Given the description of an element on the screen output the (x, y) to click on. 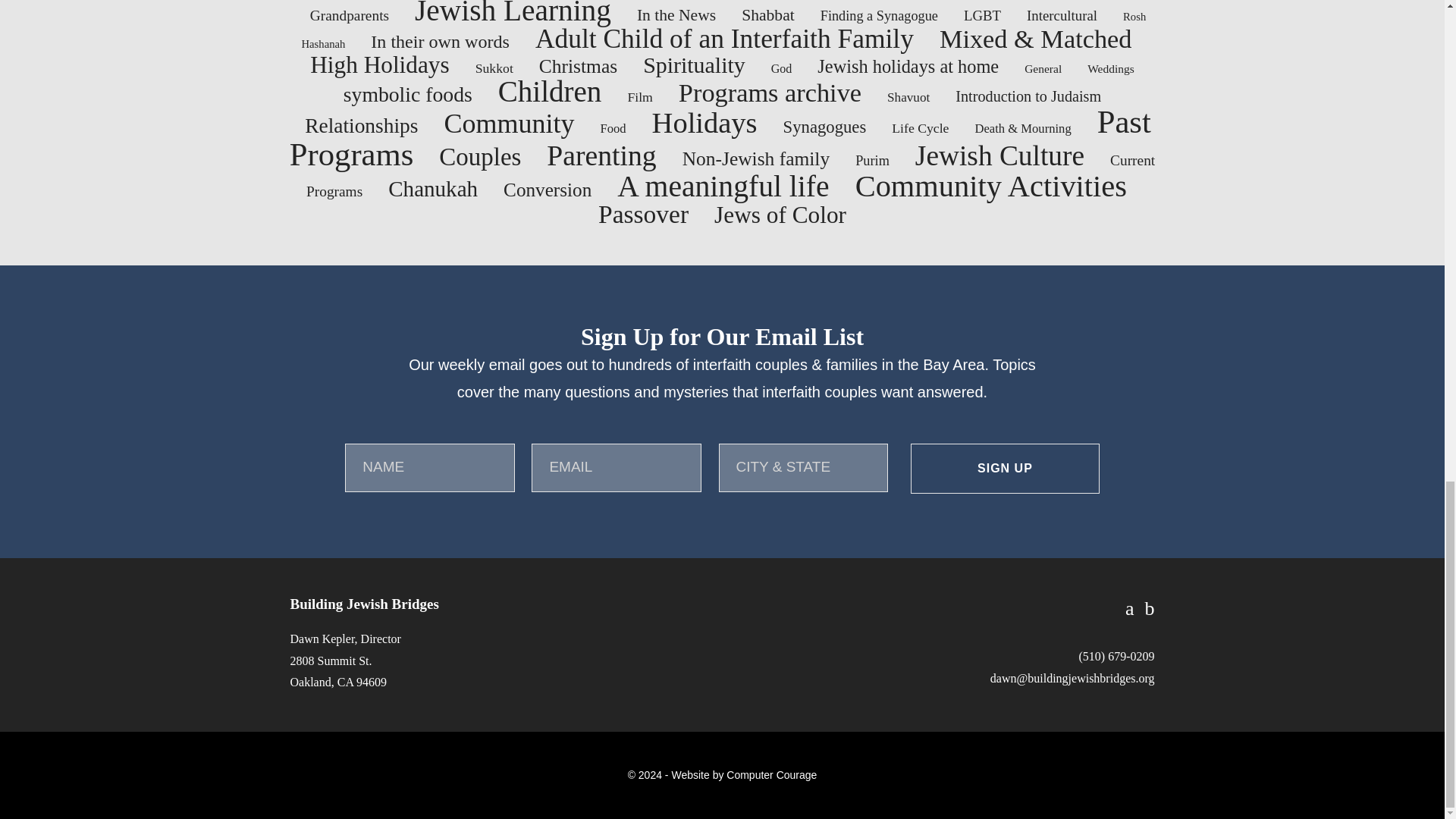
Sign Up (1005, 468)
In the News (676, 14)
Grandparents (349, 15)
Jewish Learning (512, 13)
Shabbat (767, 14)
Intercultural (1061, 15)
LGBT (982, 15)
Finding a Synagogue (879, 15)
